Given the description of an element on the screen output the (x, y) to click on. 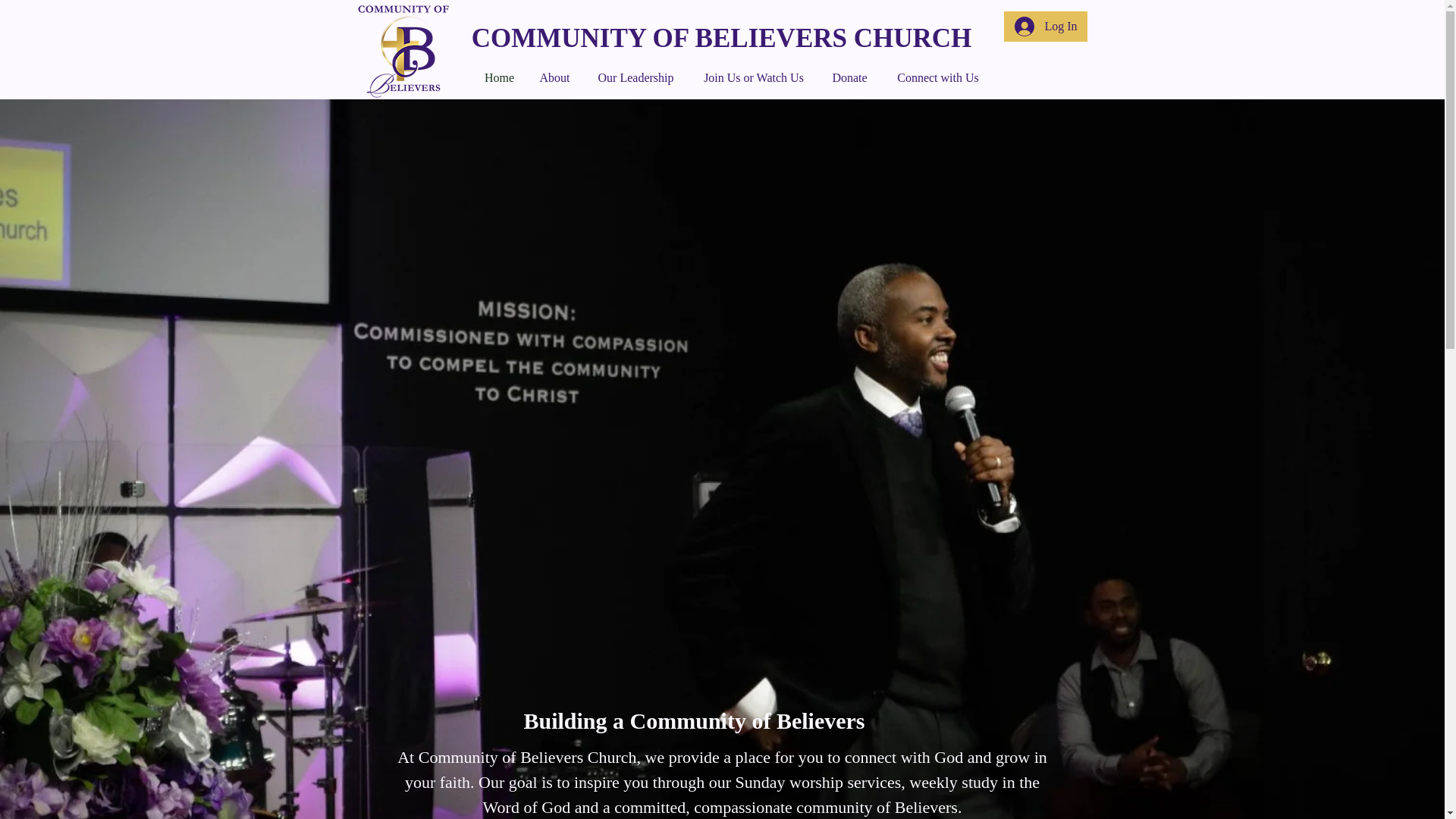
Home (499, 77)
Log In (1045, 26)
About (554, 77)
COMMUNITY OF BELIEVERS CHURCH (721, 38)
Connect with Us (937, 77)
Our Leadership (635, 77)
Donate (849, 77)
Join Us or Watch Us (753, 77)
